Given the description of an element on the screen output the (x, y) to click on. 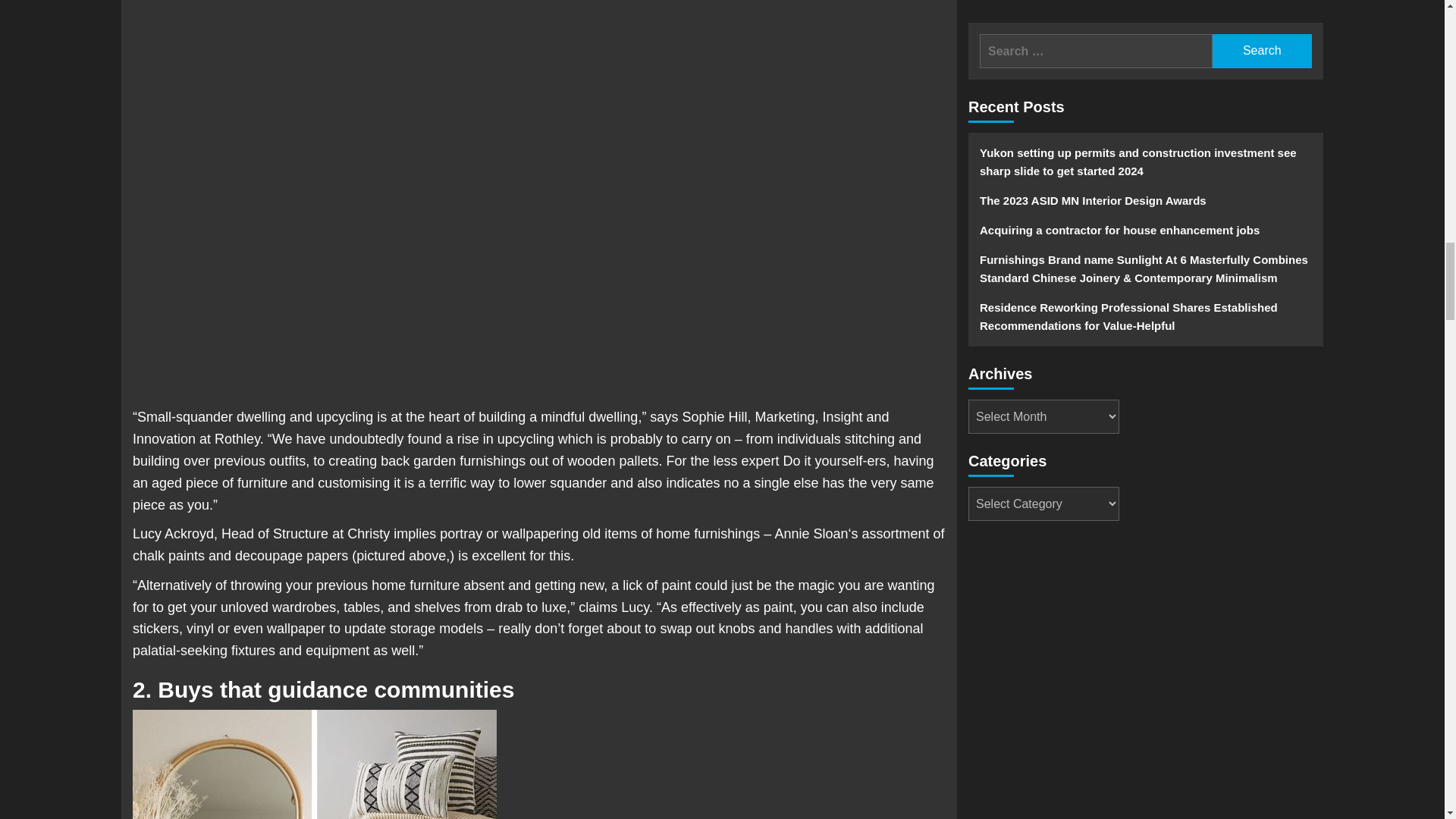
Rothley (237, 438)
Sustainable home design (314, 764)
Annie Sloan (810, 533)
